Given the description of an element on the screen output the (x, y) to click on. 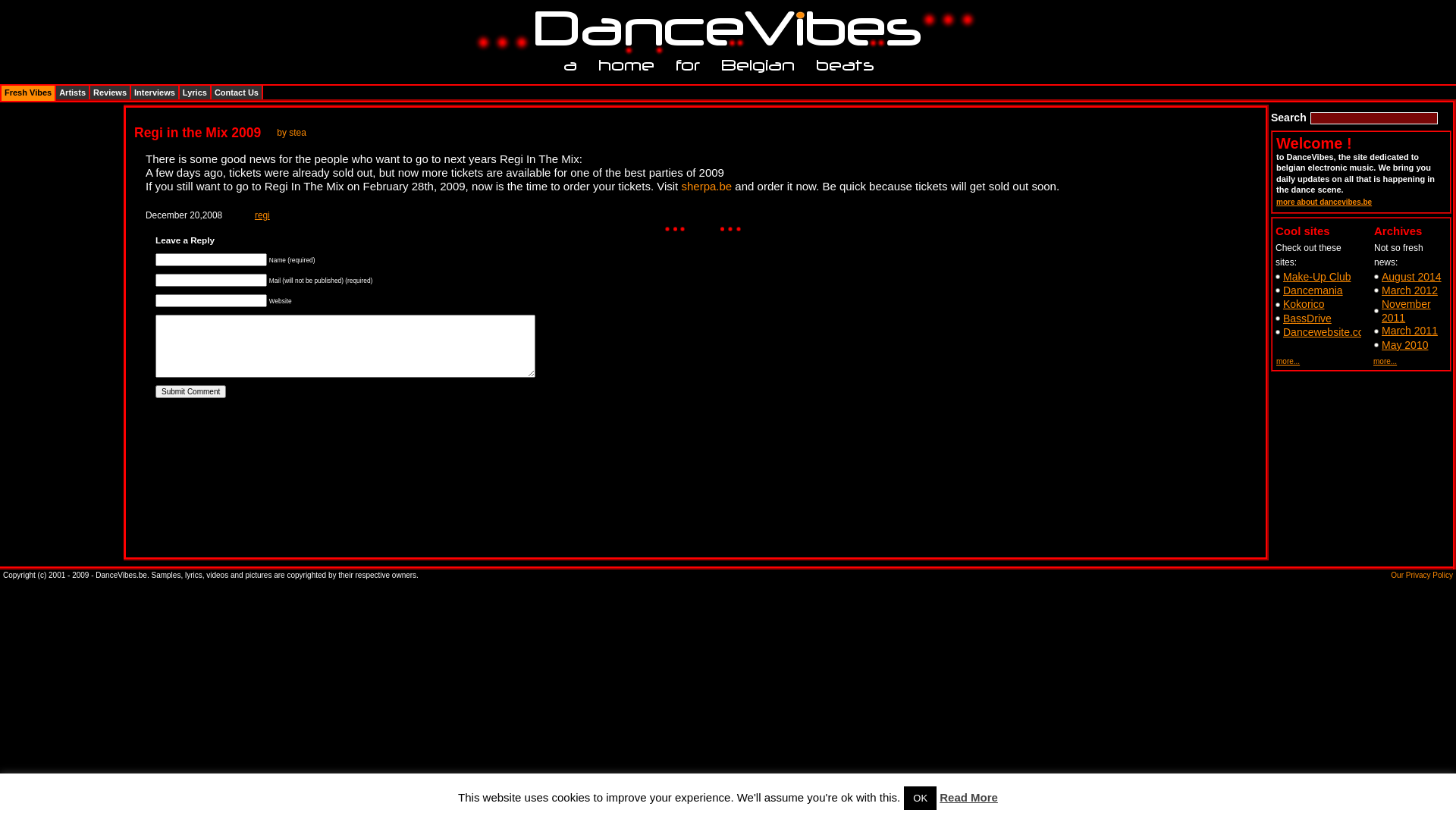
Dancemania Element type: text (1313, 290)
more about dancevibes.be Element type: text (1323, 201)
Kokorico Element type: text (1303, 304)
more... Element type: text (1384, 361)
March 2012 Element type: text (1409, 290)
Fresh Vibes Element type: text (28, 92)
Make-Up Club Element type: text (1316, 276)
August 2014 Element type: text (1411, 276)
Read More Element type: text (968, 796)
DanceVibes Element type: text (721, 28)
Submit Comment Element type: text (190, 391)
Contact Us Element type: text (236, 92)
OK Element type: text (919, 797)
November 2011 Element type: text (1405, 310)
more... Element type: text (1287, 361)
Our Privacy Policy Element type: text (1421, 575)
Artists Element type: text (72, 92)
Dancewebsite.com Element type: text (1327, 332)
sherpa.be Element type: text (707, 185)
regi Element type: text (261, 215)
March 2011 Element type: text (1409, 330)
May 2010 Element type: text (1404, 344)
BassDrive Element type: text (1307, 318)
Reviews Element type: text (109, 92)
Lyrics Element type: text (194, 92)
Interviews Element type: text (154, 92)
